Given the description of an element on the screen output the (x, y) to click on. 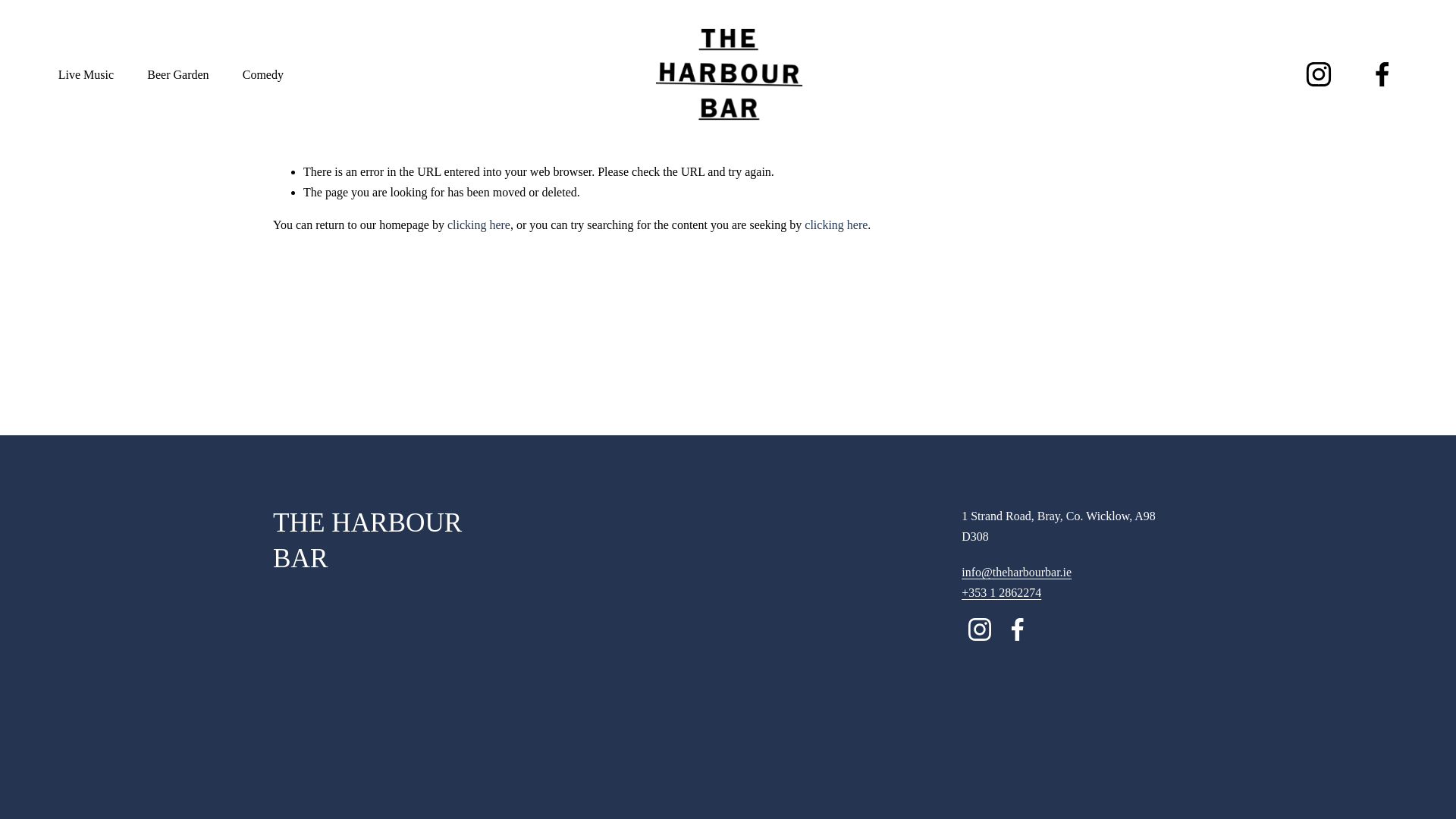
clicking here (836, 224)
Live Music (85, 74)
Comedy (263, 74)
clicking here (478, 224)
Beer Garden (177, 74)
